Given the description of an element on the screen output the (x, y) to click on. 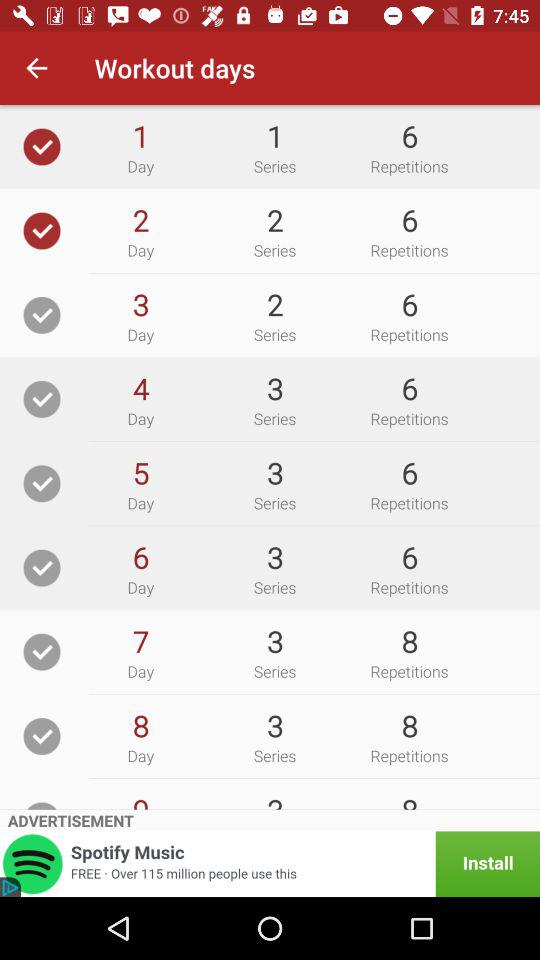
turn on item to the left of the 3 (140, 472)
